Given the description of an element on the screen output the (x, y) to click on. 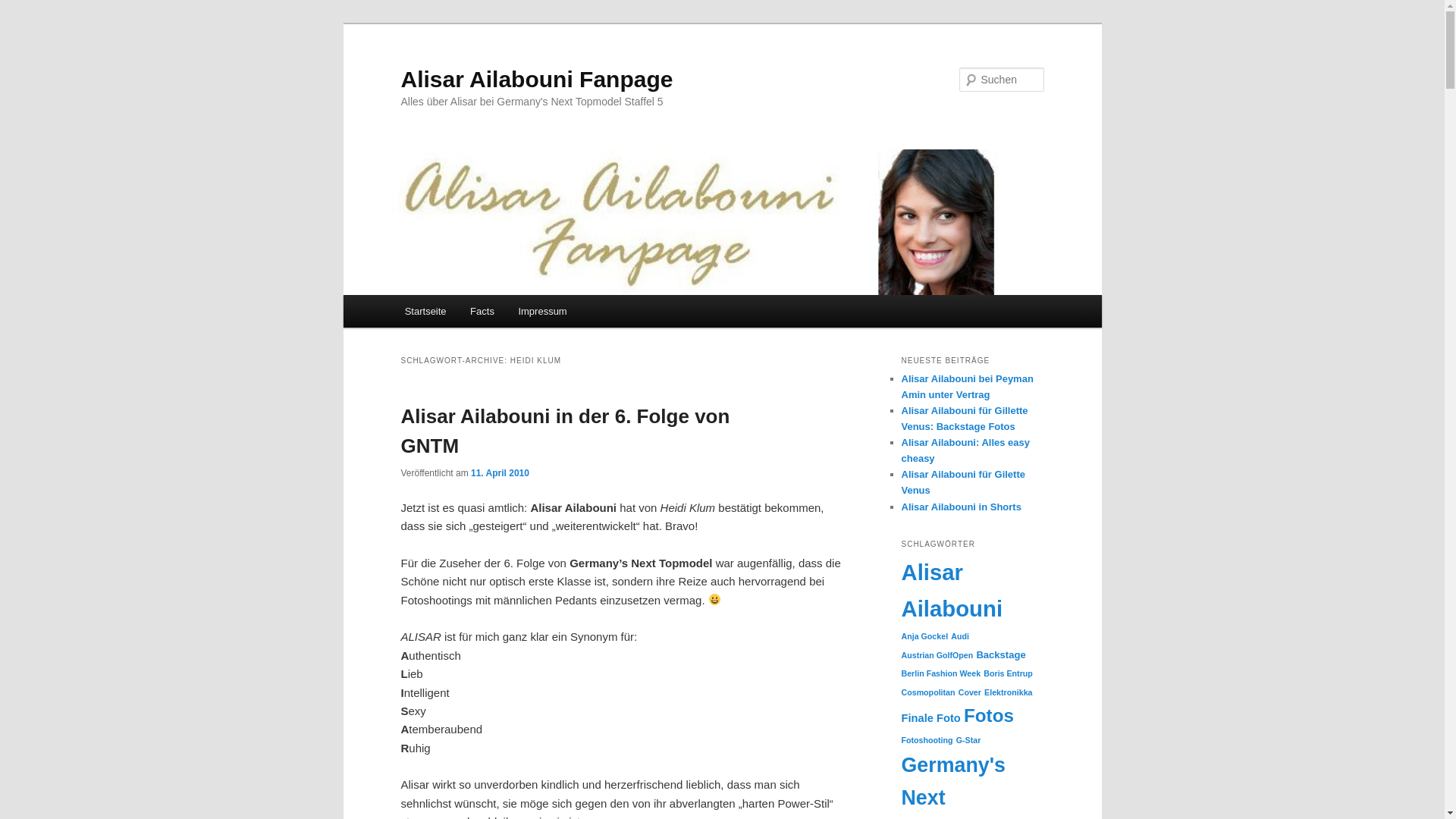
Suchen Element type: text (25, 8)
Facts Element type: text (481, 310)
Alisar Ailabouni: Alles easy cheasy Element type: text (964, 450)
11. April 2010 Element type: text (499, 472)
Anja Gockel Element type: text (923, 635)
Austrian GolfOpen Element type: text (936, 654)
Startseite Element type: text (425, 310)
Fotoshooting Element type: text (926, 739)
Finale Element type: text (916, 718)
Cosmopolitan Element type: text (927, 691)
Berlin Fashion Week Element type: text (940, 672)
Zum Inhalt wechseln Element type: text (22, 22)
Alisar Ailabouni in Shorts Element type: text (960, 506)
Audi Element type: text (959, 635)
Alisar Ailabouni Element type: text (951, 590)
Alisar Ailabouni in der 6. Folge von GNTM Element type: text (564, 430)
Boris Entrup Element type: text (1007, 672)
Cover Element type: text (969, 691)
Elektronikka Element type: text (1008, 691)
Alisar Ailabouni bei Peyman Amin unter Vertrag Element type: text (966, 386)
G-Star Element type: text (968, 739)
Alisar Ailabouni Fanpage Element type: text (536, 78)
Foto Element type: text (948, 718)
Impressum Element type: text (542, 310)
Backstage Element type: text (1000, 654)
Fotos Element type: text (988, 715)
